Given the description of an element on the screen output the (x, y) to click on. 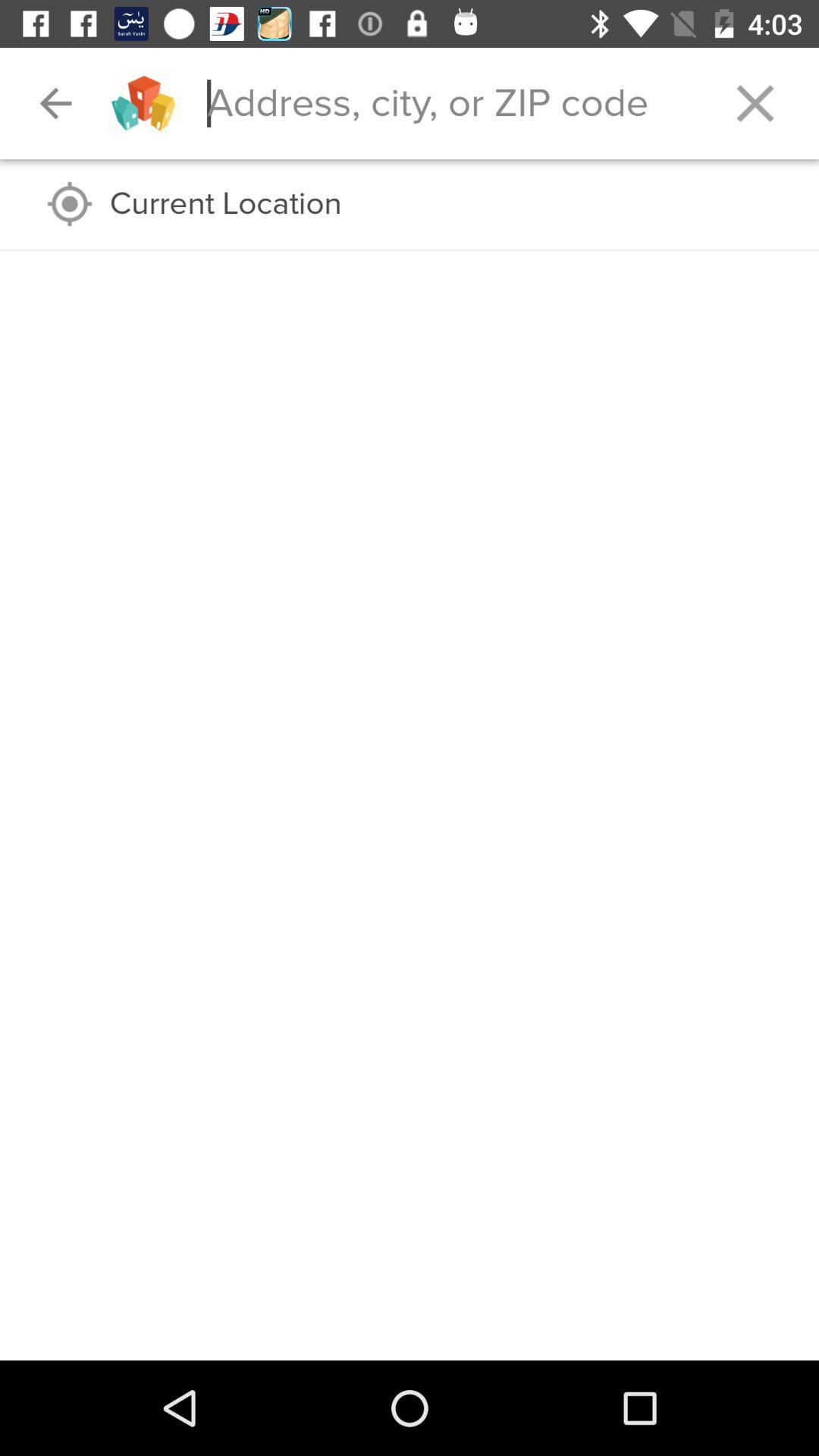
flip to the current location icon (448, 204)
